Given the description of an element on the screen output the (x, y) to click on. 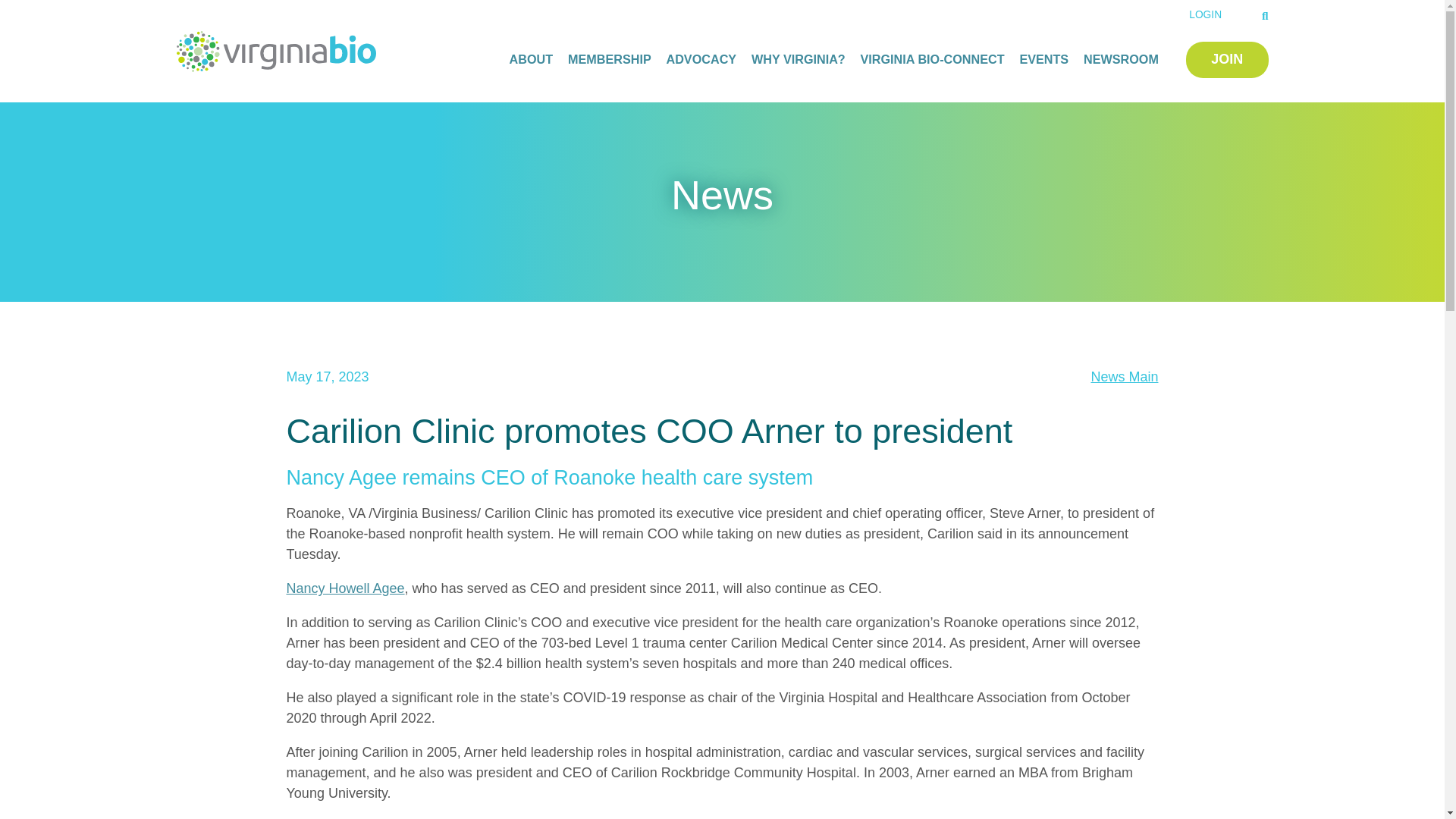
JOIN (1227, 59)
ABOUT (531, 58)
VirginiaBio (278, 50)
LOGIN (1205, 14)
ADVOCACY (700, 58)
VIRGINIA BIO-CONNECT (932, 58)
VirginiaBio (278, 50)
EVENTS (1043, 58)
MEMBERSHIP (608, 58)
NEWSROOM (1120, 58)
News Main (1123, 376)
WHY VIRGINIA? (798, 58)
